Given the description of an element on the screen output the (x, y) to click on. 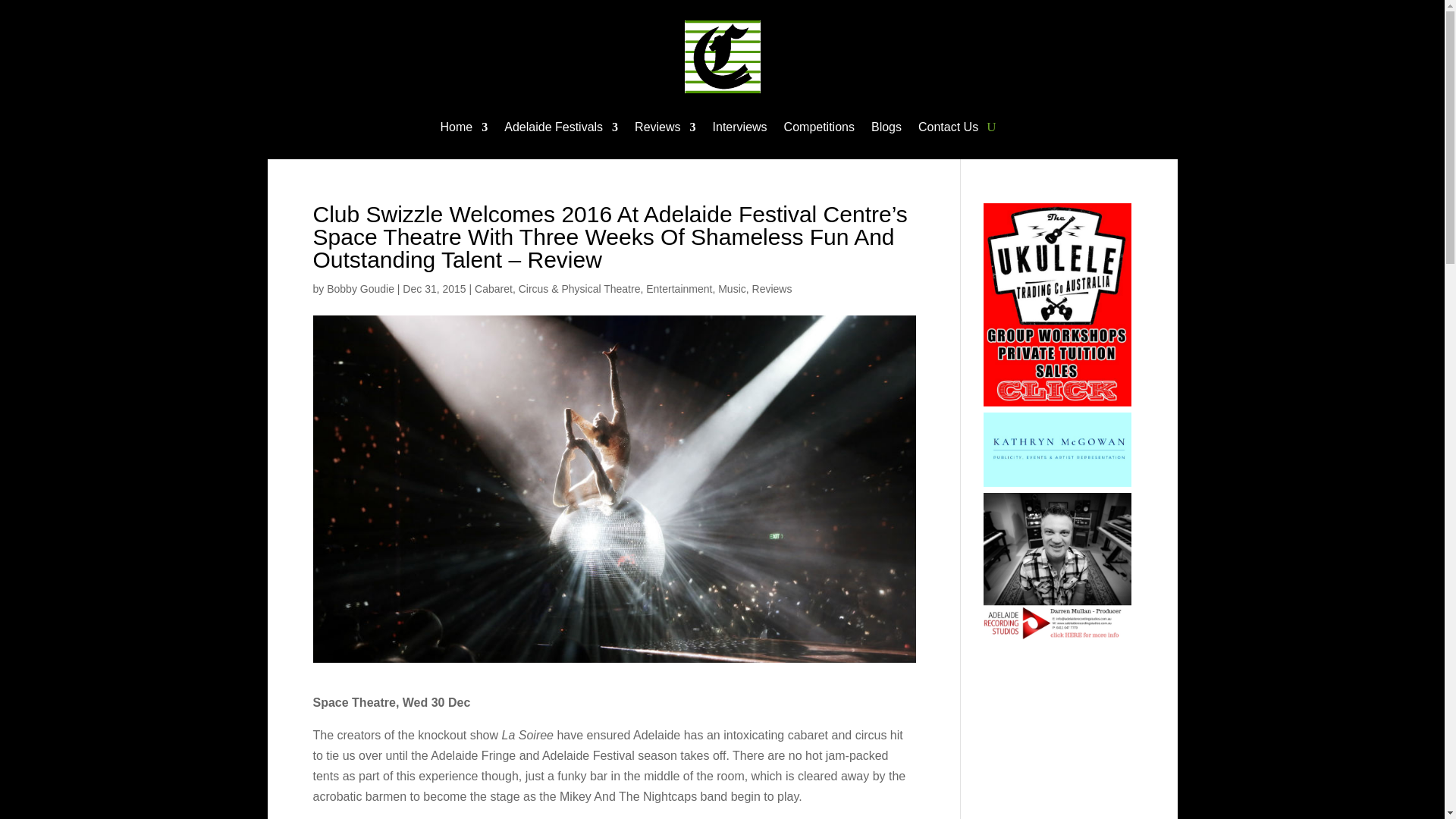
Competitions (819, 129)
Posts by Bobby Goudie (360, 287)
Clothesline C icon 3 (722, 56)
Contact Us (948, 129)
Interviews (740, 129)
Reviews (664, 129)
Home (464, 129)
Blogs (885, 129)
Adelaide Festivals (560, 129)
